Given the description of an element on the screen output the (x, y) to click on. 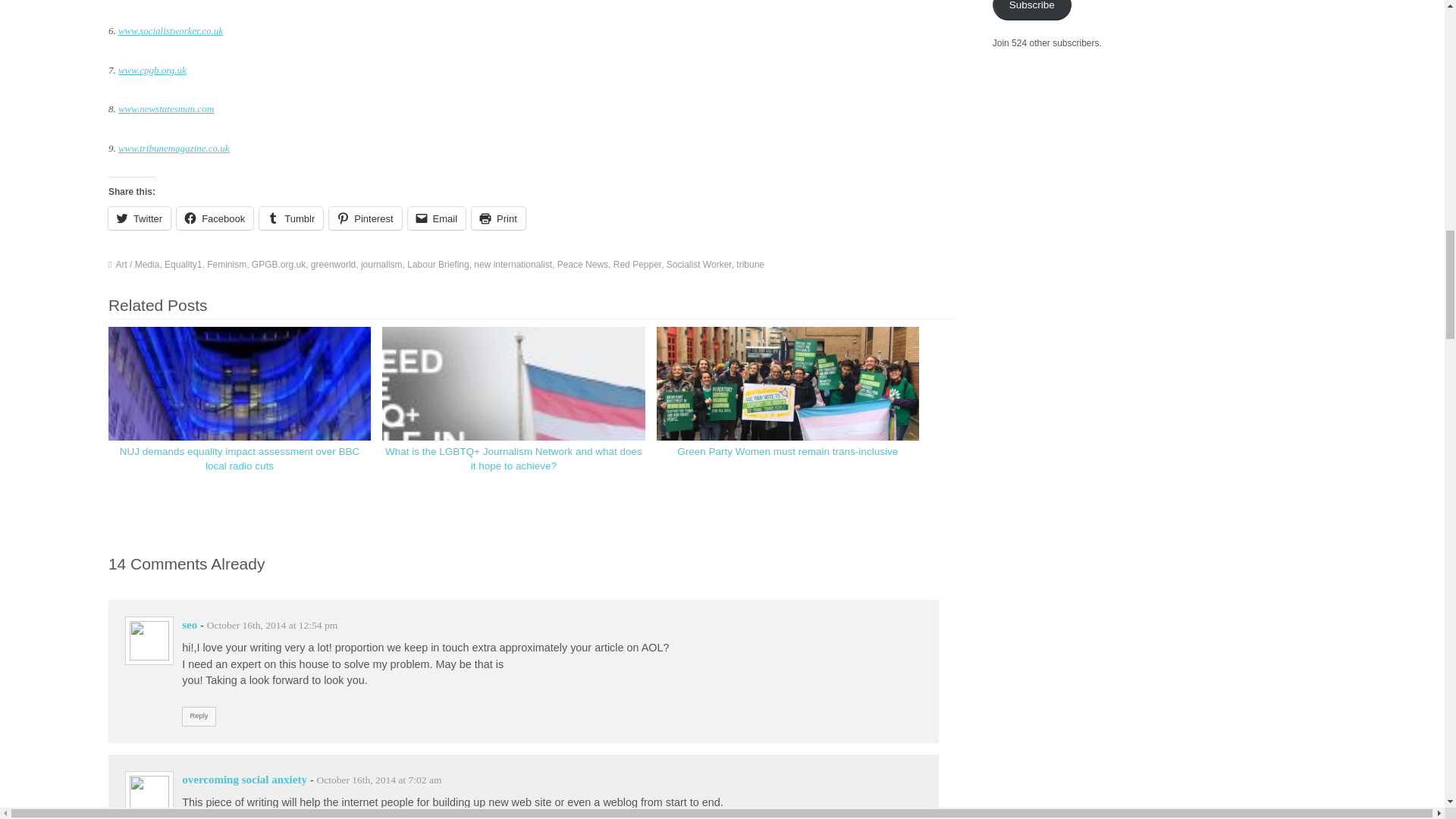
Click to share on Tumblr (291, 218)
Click to share on Pinterest (365, 218)
Click to share on Twitter (138, 218)
Click to email a link to a friend (436, 218)
Click to share on Facebook (214, 218)
Click to print (498, 218)
